Given the description of an element on the screen output the (x, y) to click on. 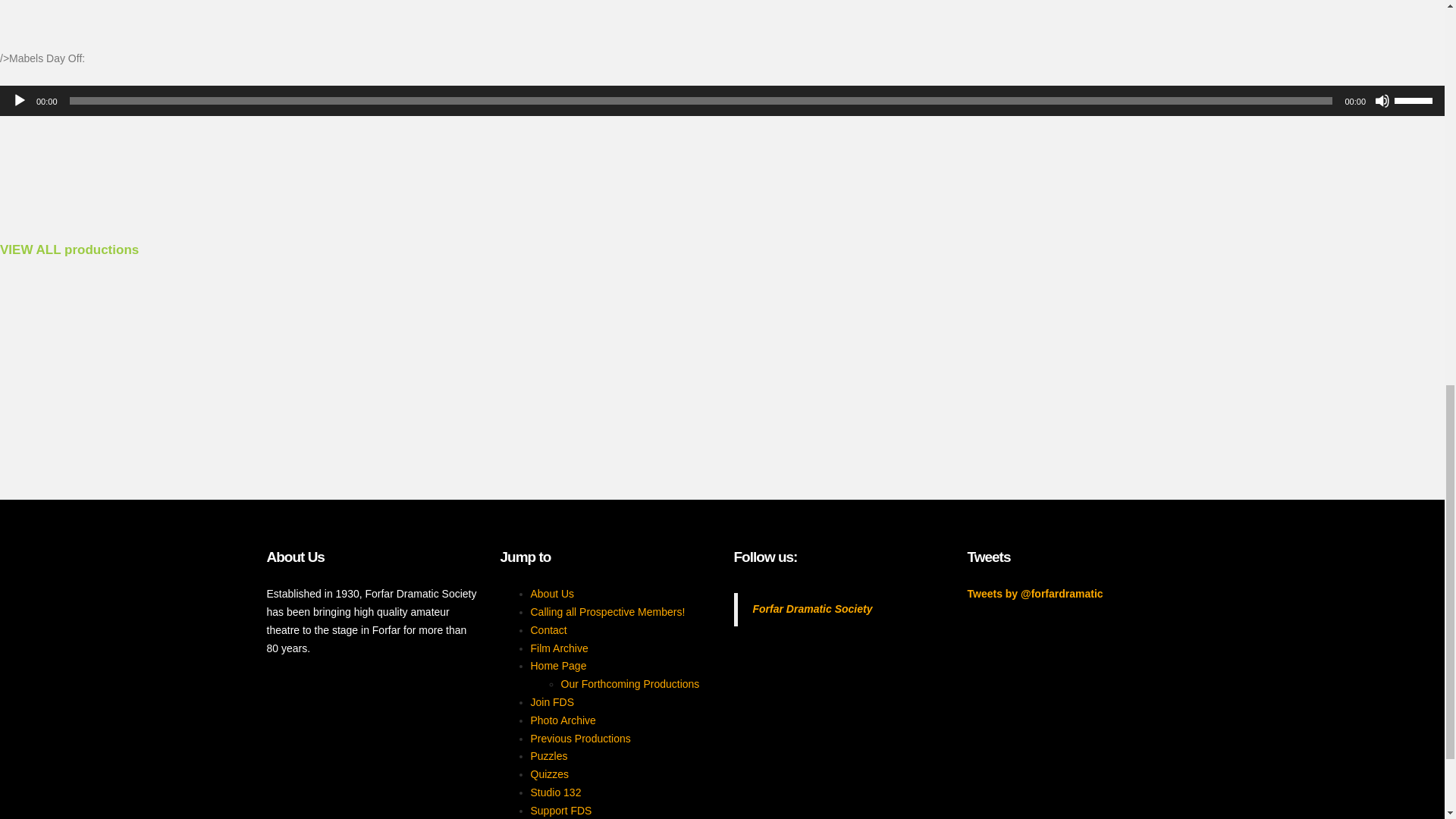
Film Archive (559, 648)
Play (19, 100)
About Us (553, 593)
Previous Productions (580, 738)
Support FDS (561, 810)
Photo Archive (563, 720)
Home Page (558, 665)
Calling all Prospective Members! (608, 612)
Mute (1382, 100)
Forfar Dramatic Society (812, 608)
